Given the description of an element on the screen output the (x, y) to click on. 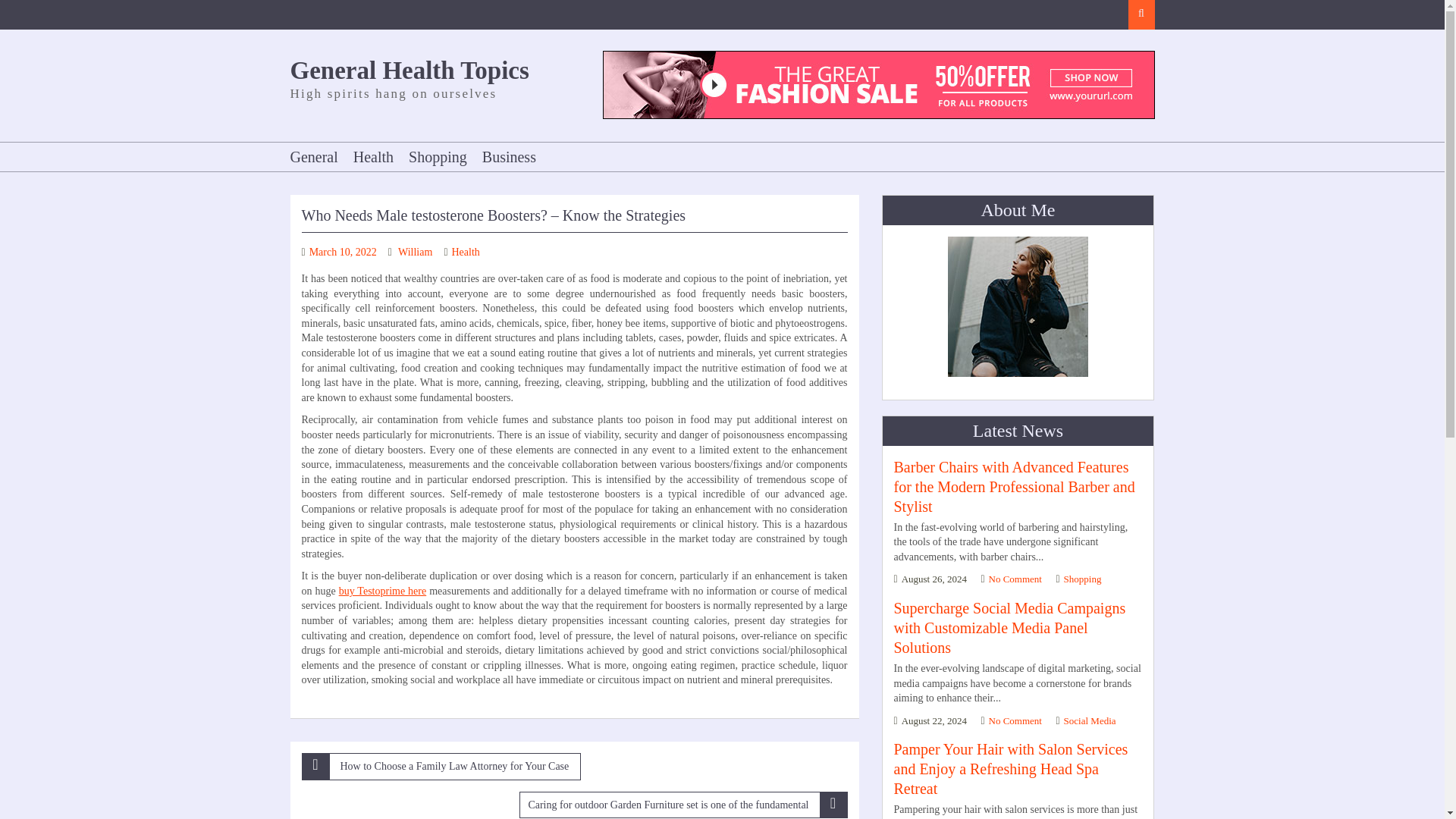
Business (508, 156)
How to Choose a Family Law Attorney for Your Case (440, 766)
No Comment (1015, 578)
Social Media (1090, 720)
Shopping (1083, 578)
General Health Topics (408, 70)
Health (465, 251)
William (414, 251)
